Given the description of an element on the screen output the (x, y) to click on. 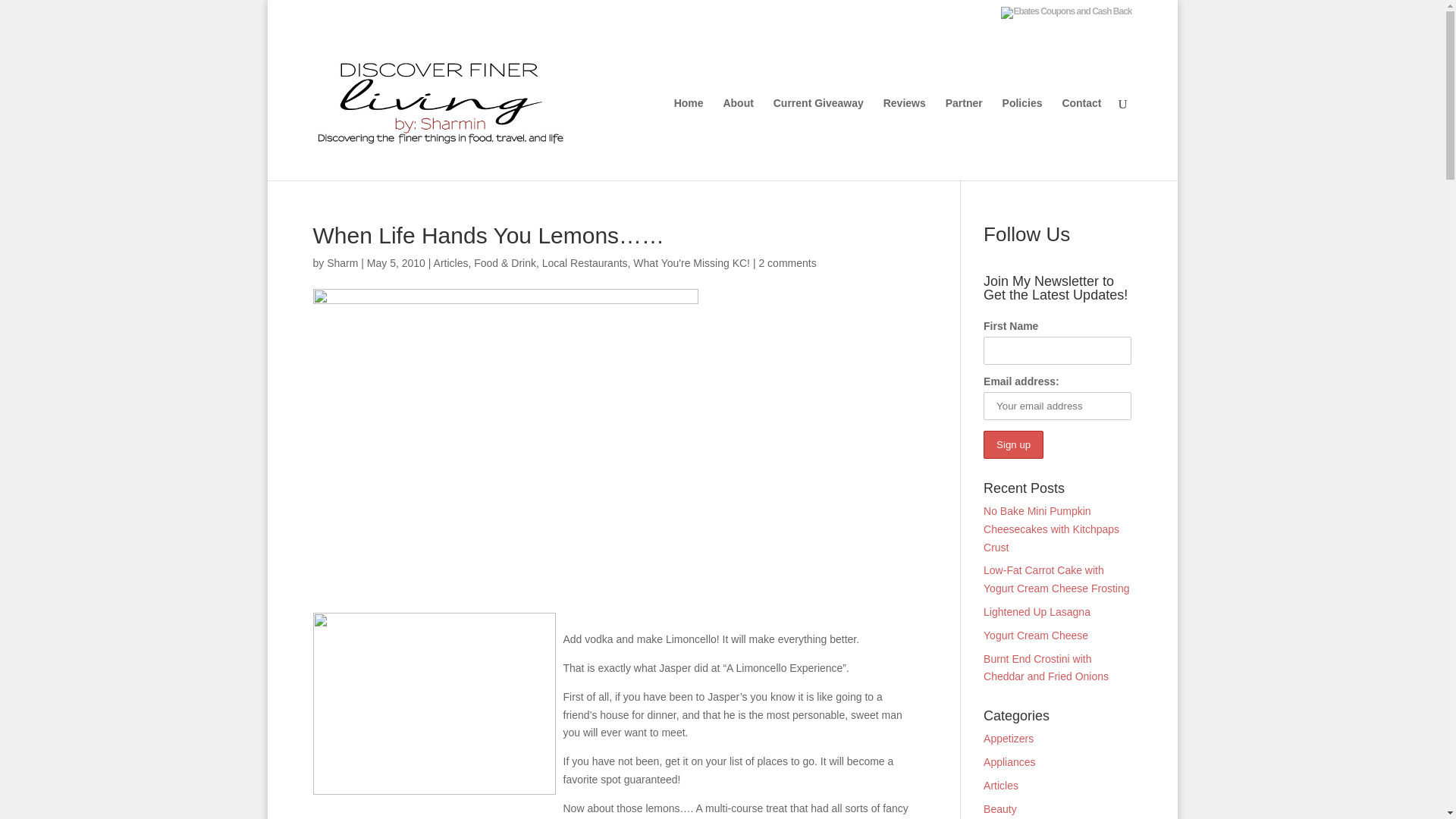
Ebates Coupons and Cash Back (1066, 12)
What You're Missing KC! (691, 263)
Low-Fat Carrot Cake with Yogurt Cream Cheese Frosting (1056, 579)
Posts by Sharm (342, 263)
Ebates Coupons and Cash Back (1066, 15)
Sharm (342, 263)
Sign up (1013, 444)
No Bake Mini Pumpkin Cheesecakes with Kitchpaps Crust (1051, 529)
2 comments (786, 263)
Sign up (1013, 444)
